Given the description of an element on the screen output the (x, y) to click on. 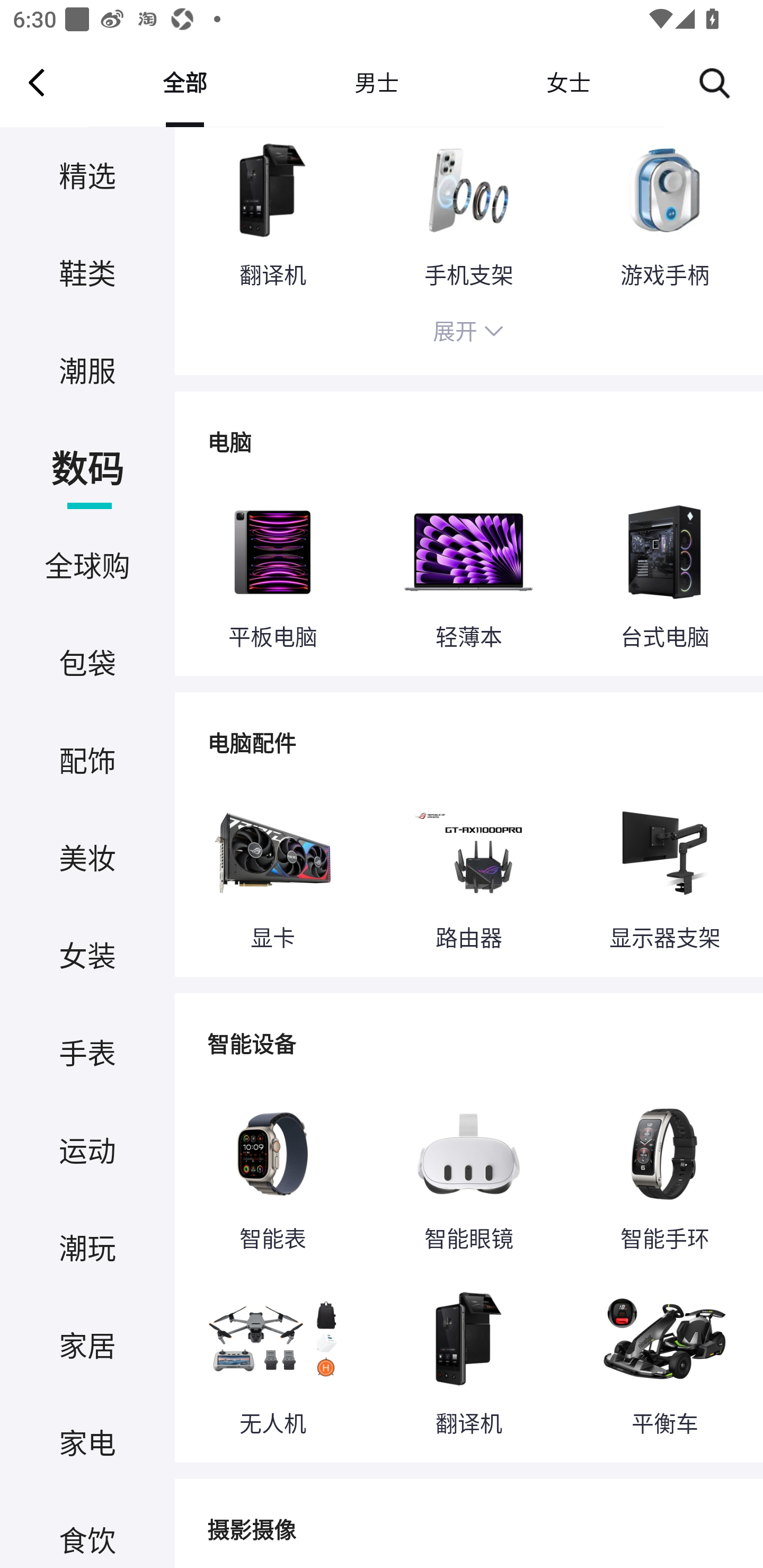
Navigate up (36, 82)
全部 (184, 82)
男士 (376, 82)
女士 (568, 82)
翻译机 (272, 215)
手机支架 (468, 215)
游戏手柄 (664, 215)
展开  (468, 334)
平板电脑 (272, 573)
轻薄本 (468, 573)
台式电脑 (664, 573)
显卡 (272, 874)
路由器 (468, 874)
显示器支架 (664, 874)
智能表 (272, 1174)
智能眼镜 (468, 1174)
智能手环 (664, 1174)
无人机 (272, 1358)
翻译机 (468, 1358)
平衡车 (664, 1358)
